Given the description of an element on the screen output the (x, y) to click on. 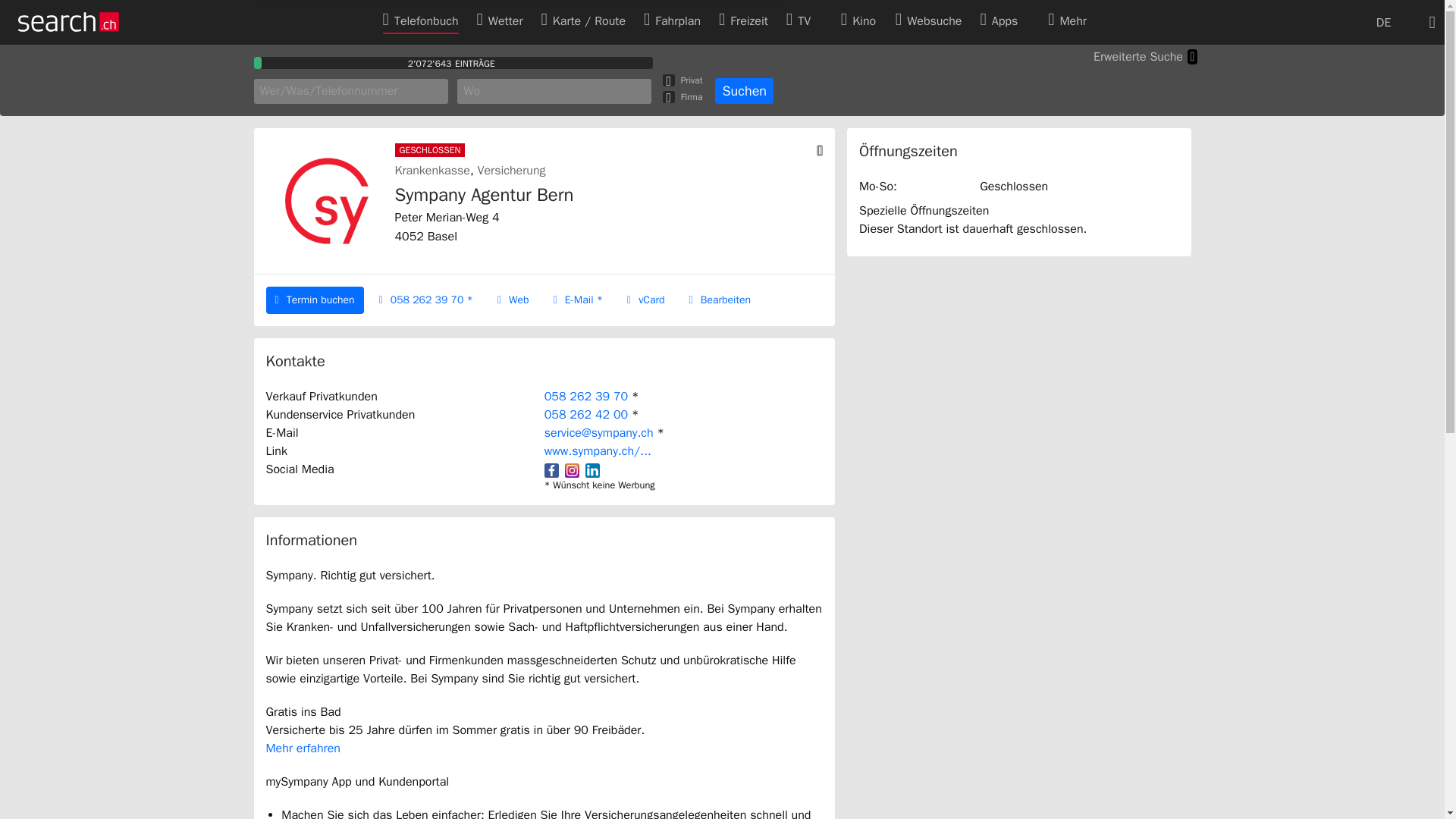
Erweiterte Suche (1144, 56)
Wo (553, 91)
TV (804, 19)
Apps (998, 19)
Mehr (1076, 19)
Suchen (743, 90)
Suchen (743, 90)
Wetter (499, 19)
Websuche (928, 19)
TV-Programm (804, 21)
